Given the description of an element on the screen output the (x, y) to click on. 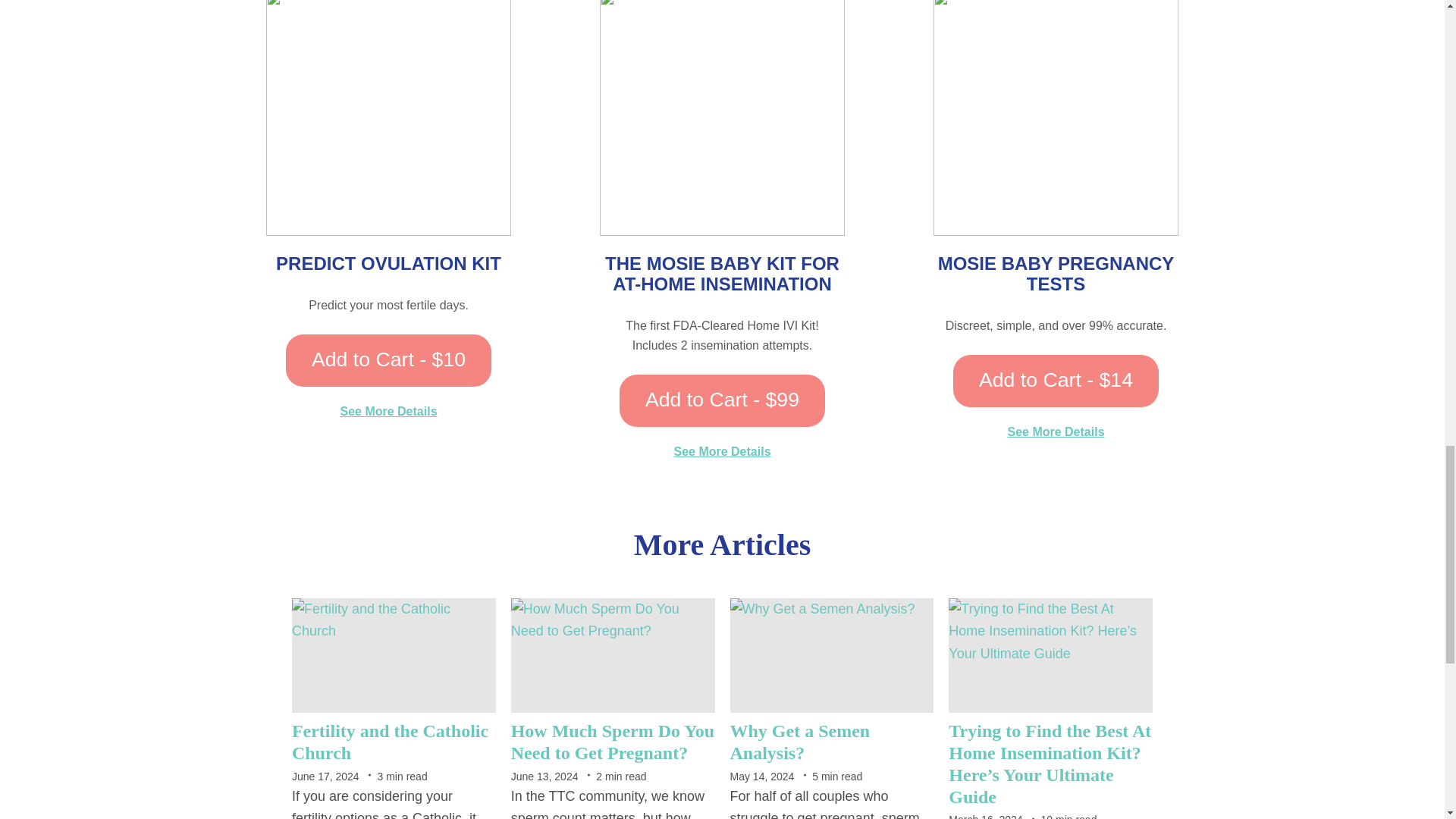
PREDICT OVULATION KIT (388, 263)
